Given the description of an element on the screen output the (x, y) to click on. 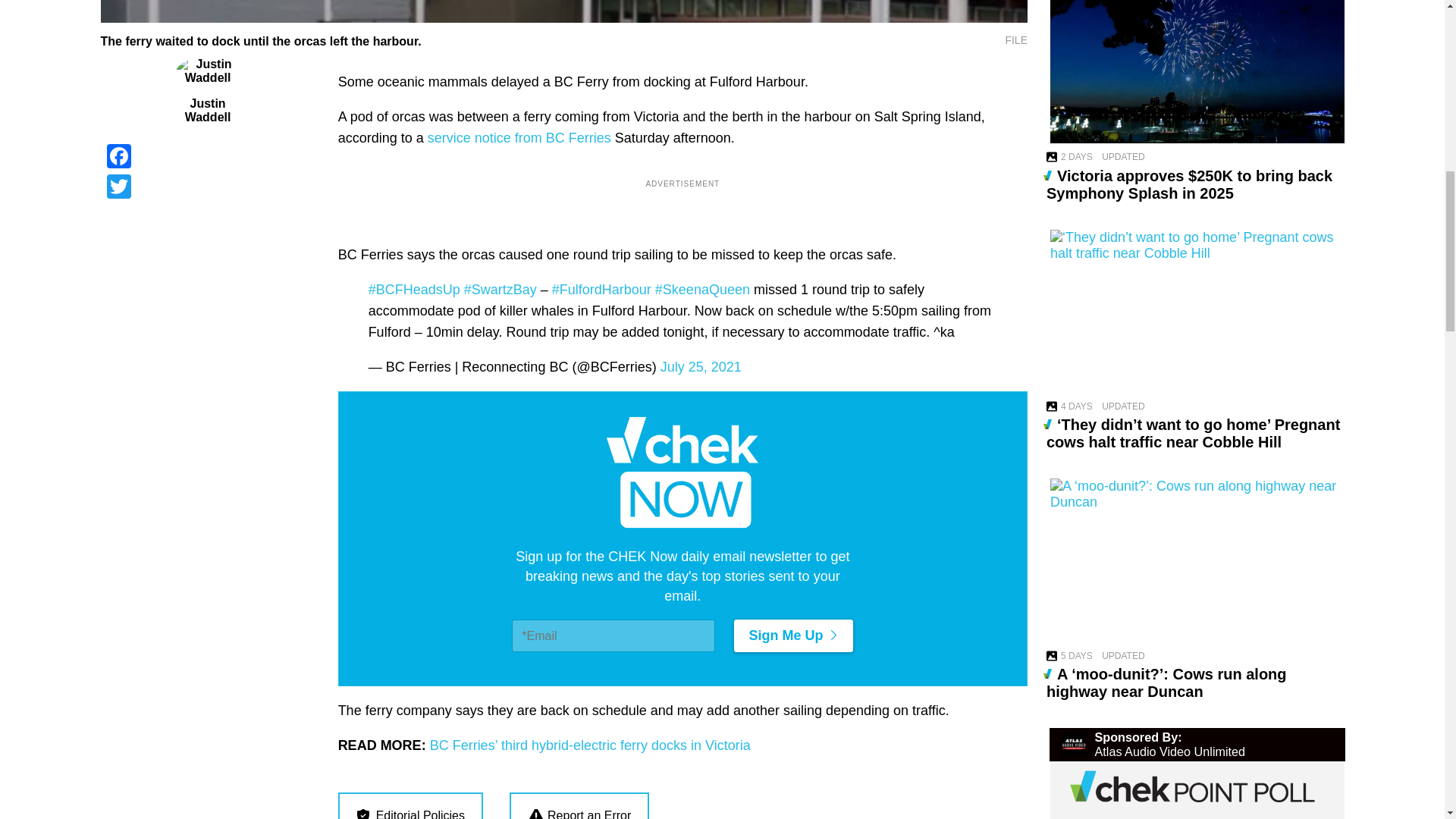
Facebook (207, 155)
Twitter (207, 186)
